Given the description of an element on the screen output the (x, y) to click on. 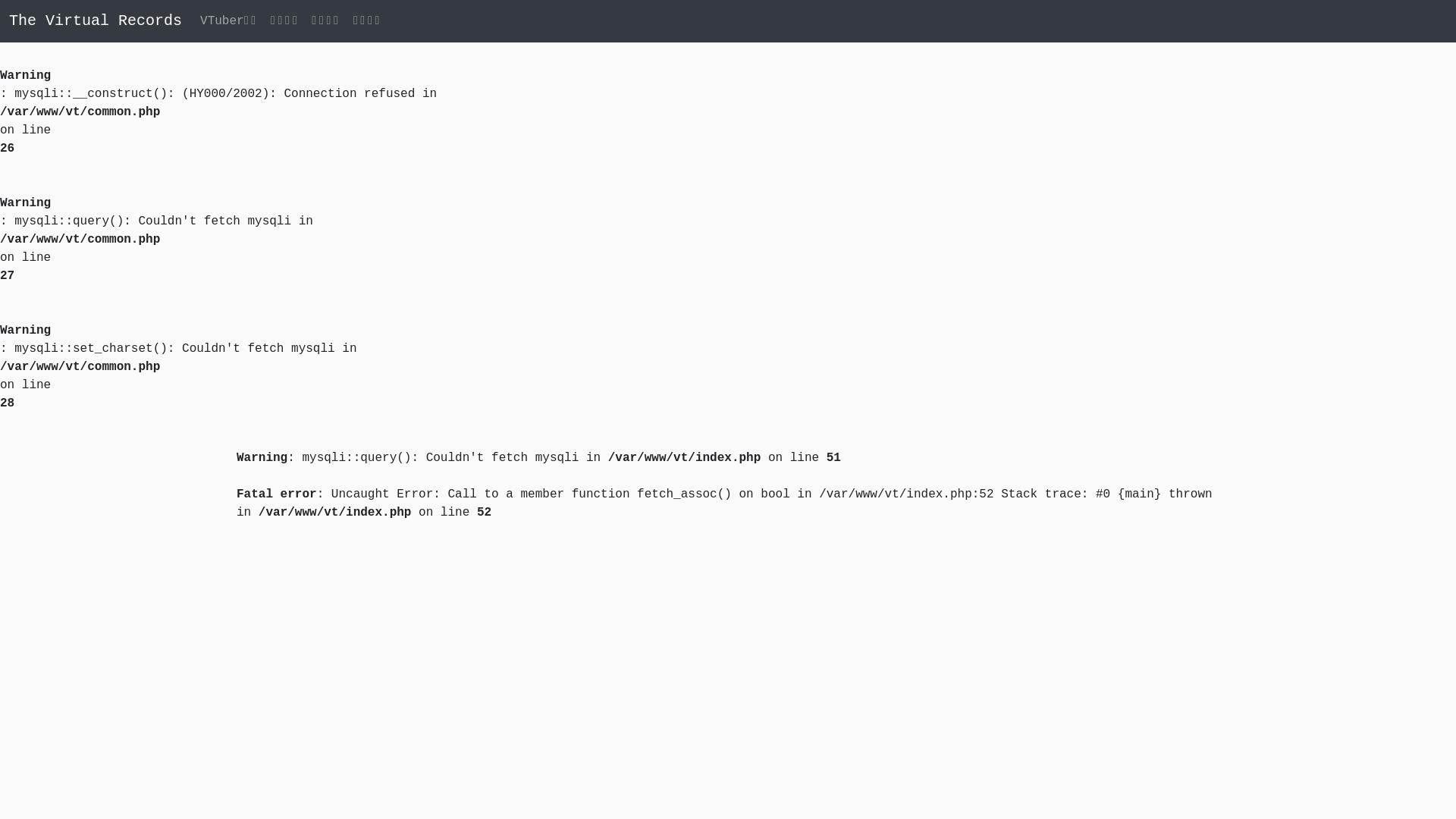
The Virtual Records Element type: text (95, 21)
